Given the description of an element on the screen output the (x, y) to click on. 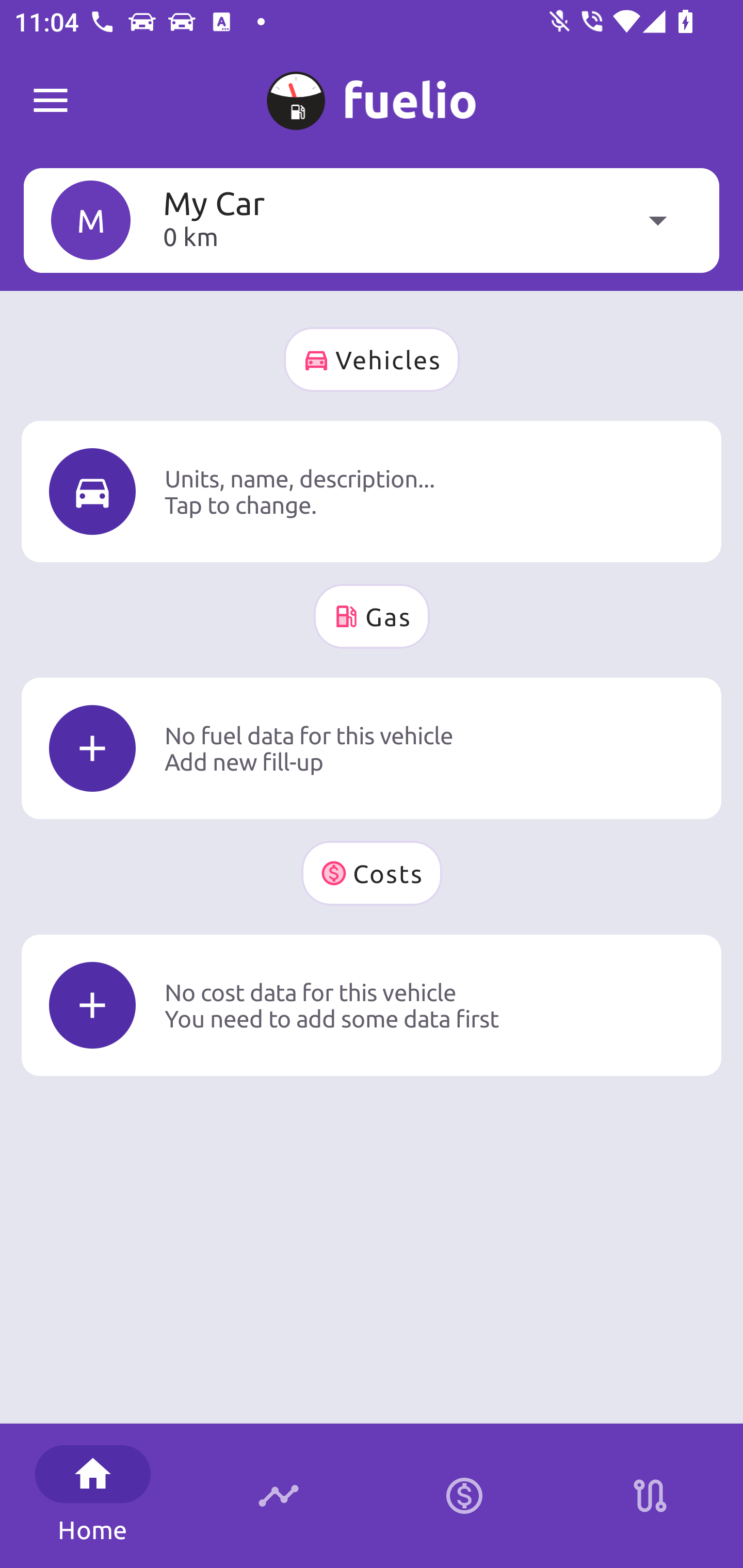
Fuelio (50, 101)
M My Car 0 km (371, 219)
Vehicles (371, 359)
Icon Units, name, description...
Tap to change. (371, 491)
Icon (92, 491)
Gas (371, 616)
Icon No fuel data for this vehicle
Add new fill-up (371, 747)
Icon (92, 748)
Costs (371, 873)
Icon (92, 1004)
Timeline (278, 1495)
Calculator (464, 1495)
Stations on route (650, 1495)
